Given the description of an element on the screen output the (x, y) to click on. 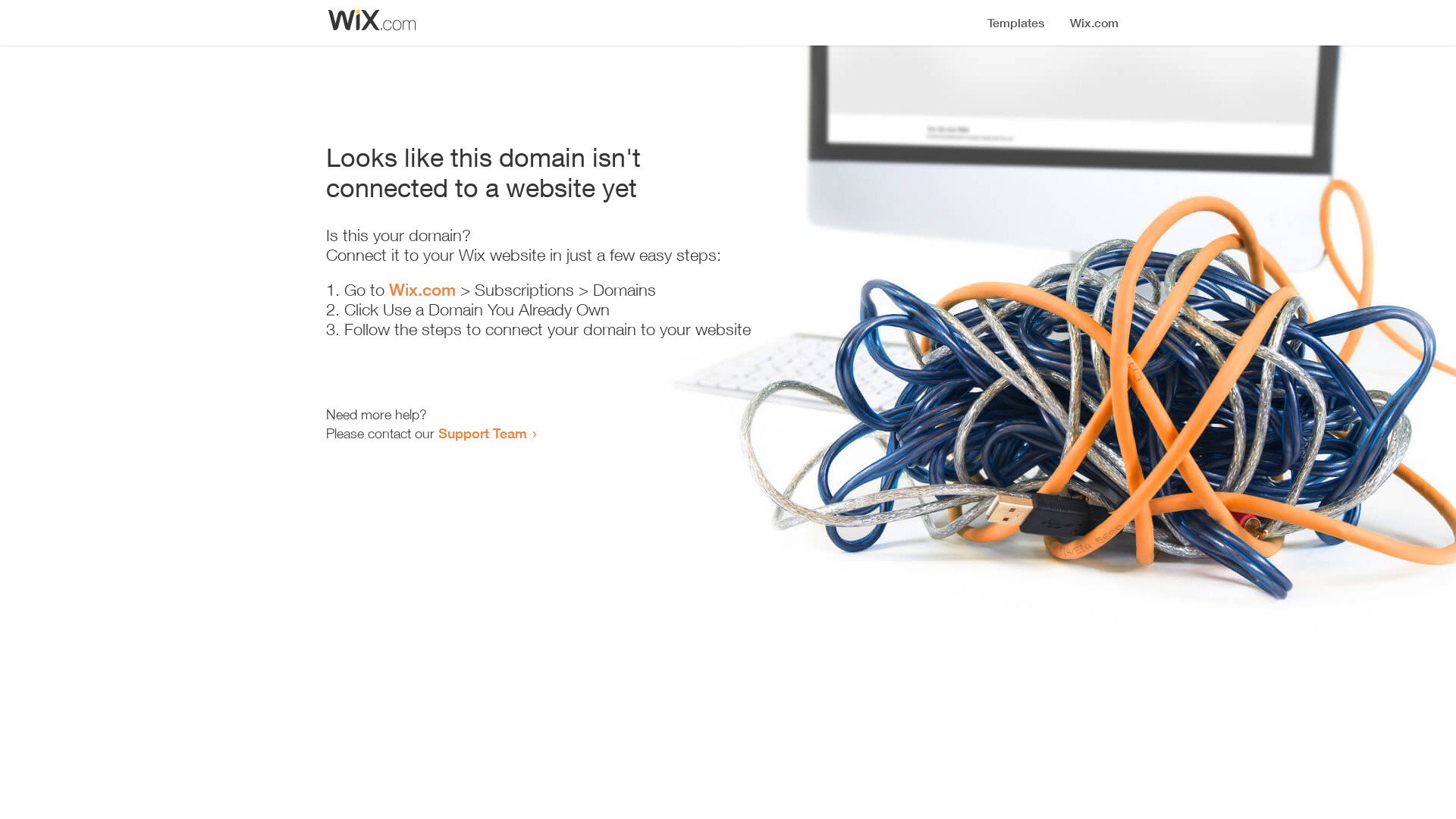
Wix.com Element type: text (422, 289)
Support Team Element type: text (482, 432)
